Given the description of an element on the screen output the (x, y) to click on. 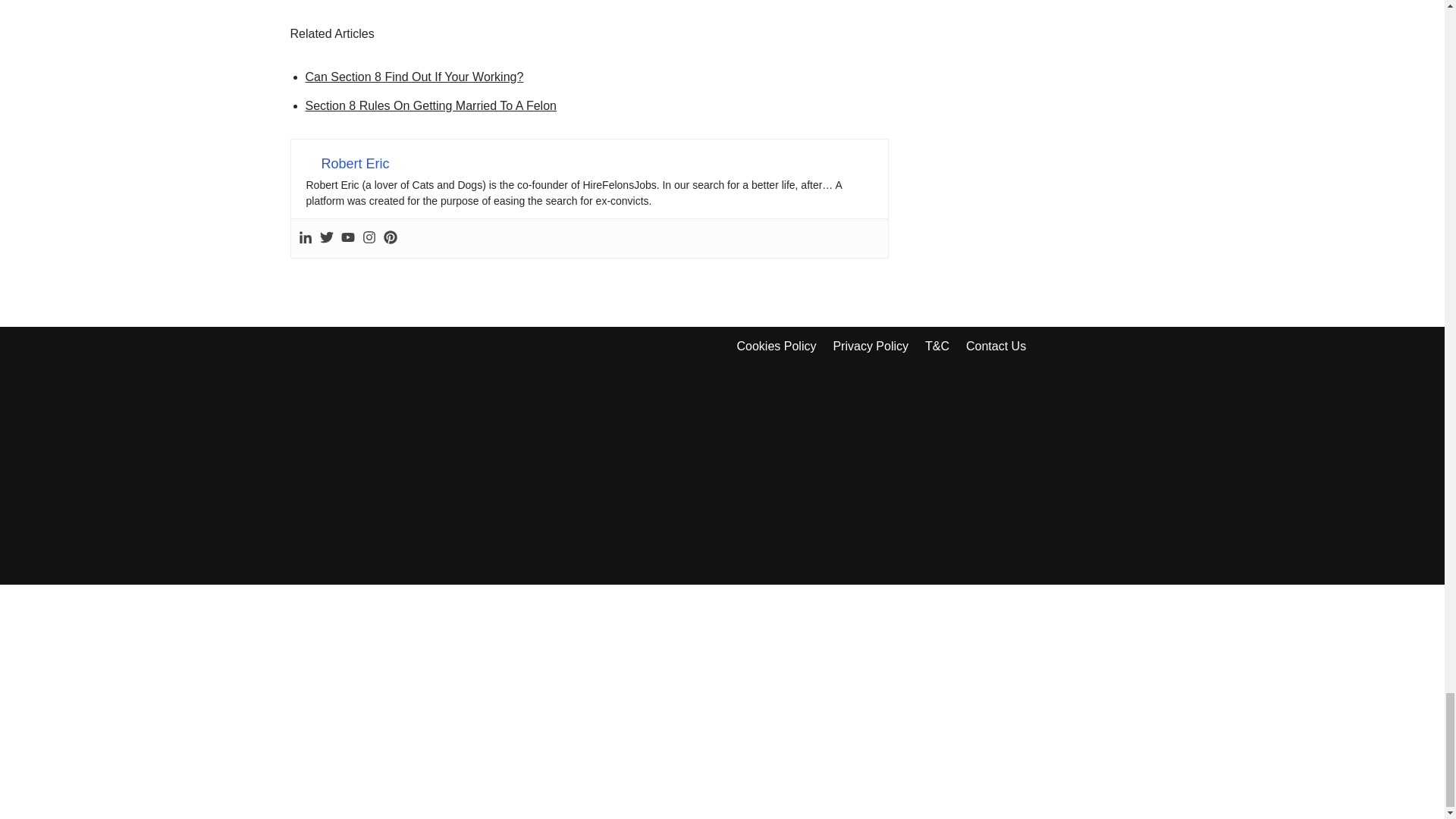
Can Section 8 Find Out If Your Working? (413, 76)
Section 8 Rules On Getting Married To A Felon (430, 105)
Robert Eric (355, 163)
